Given the description of an element on the screen output the (x, y) to click on. 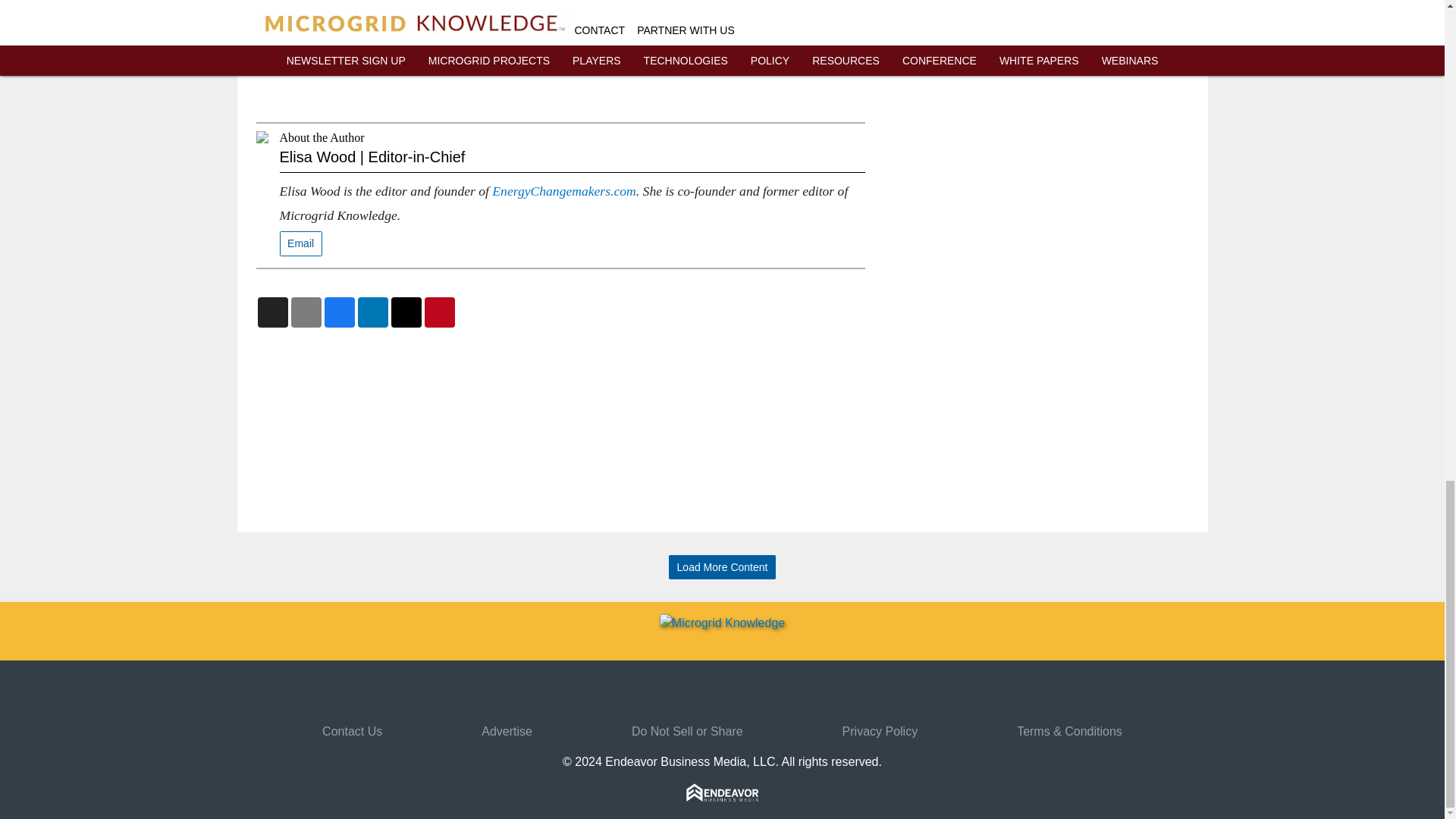
11th edition (636, 1)
Microgrid Knowledge (587, 56)
Email (300, 243)
EnergyChangemakers.com (563, 191)
